Given the description of an element on the screen output the (x, y) to click on. 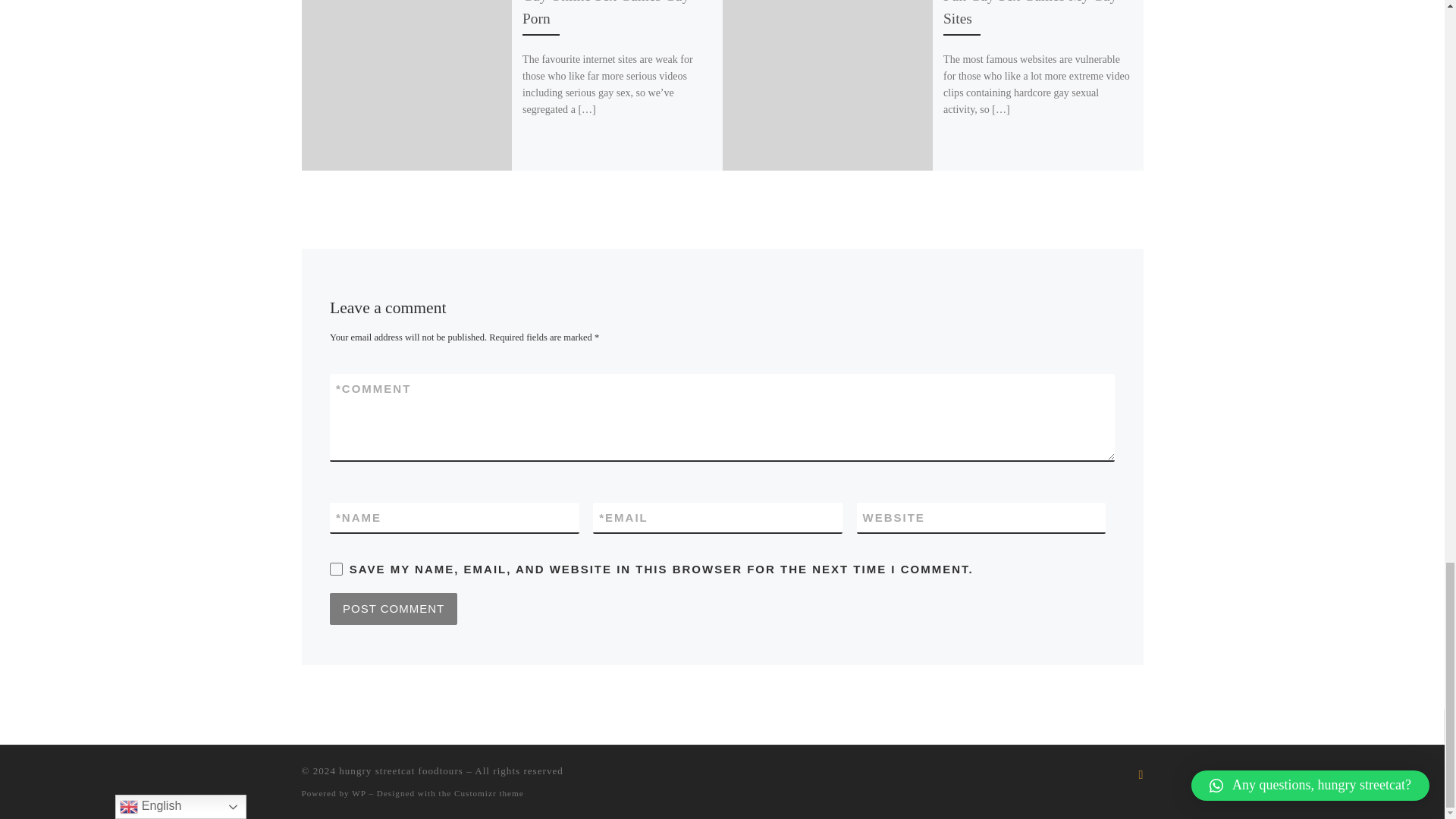
Gay Online Sex Games Gay Porn (605, 12)
Post Comment (393, 608)
Powered by WordPress (358, 792)
Fun Gay Sex Games My Gay Sites (1029, 12)
yes (336, 568)
hungry streetcat foodtours (401, 770)
Customizr theme (489, 792)
